Given the description of an element on the screen output the (x, y) to click on. 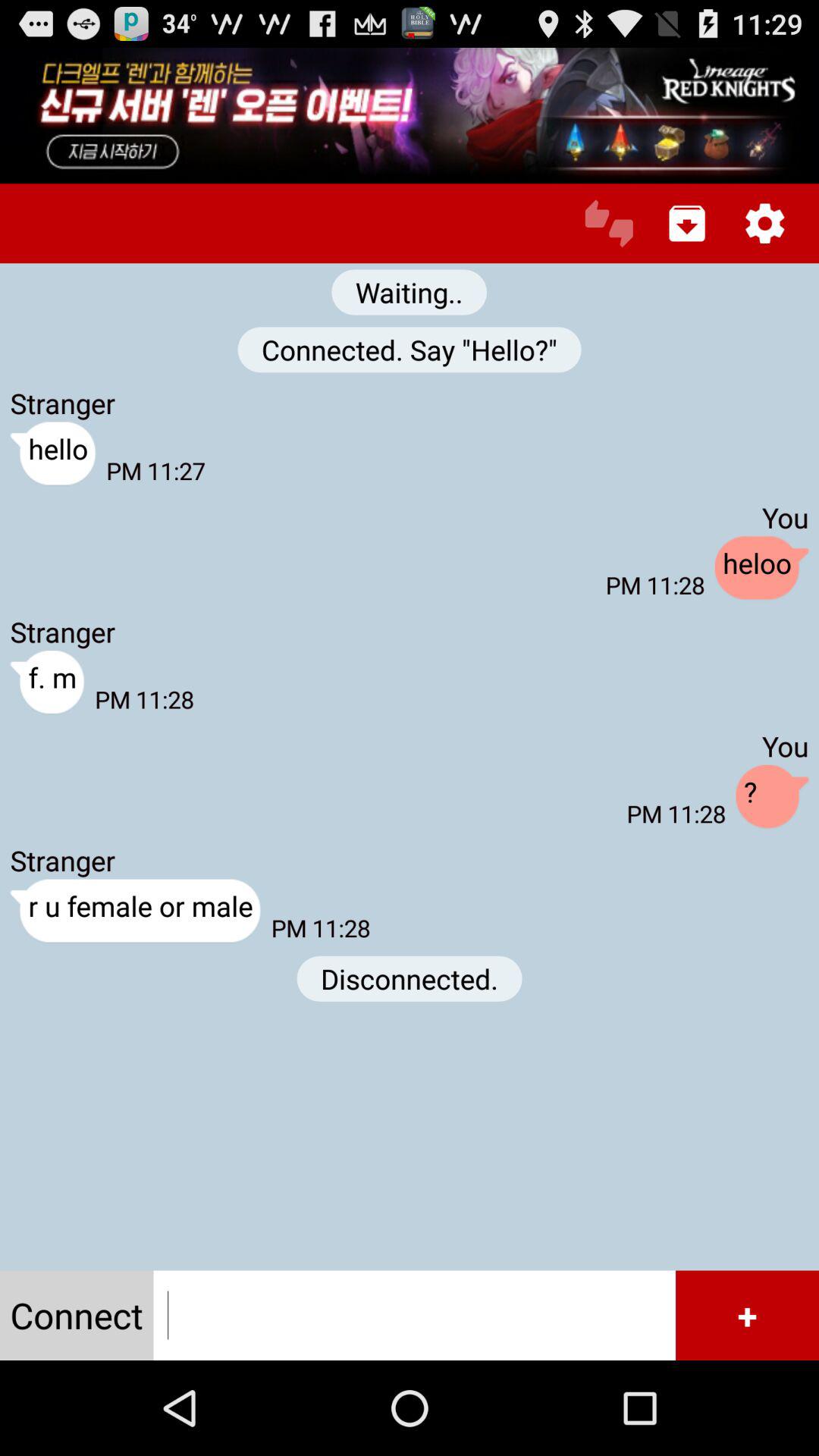
configuration option (764, 223)
